Given the description of an element on the screen output the (x, y) to click on. 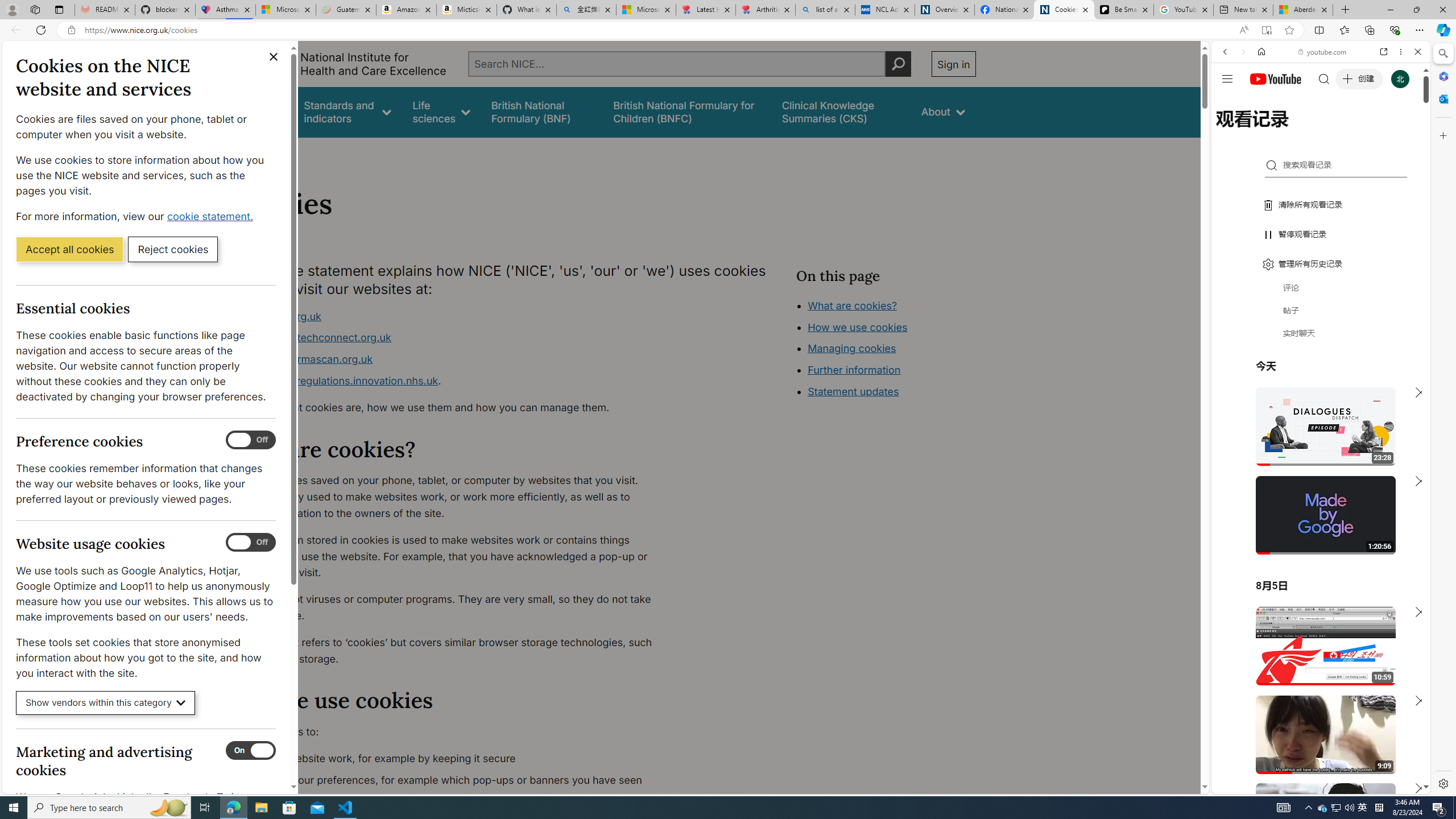
Close Customize pane (1442, 135)
false (841, 111)
Google (1320, 281)
www.healthtechconnect.org.uk (314, 337)
#you (1320, 253)
Show vendors within this category (105, 703)
VIDEOS (1300, 130)
Actions for this site (1371, 661)
Class: in-page-nav__list (884, 349)
British National Formulary for Children (BNFC) (686, 111)
Search the web (1326, 78)
